Given the description of an element on the screen output the (x, y) to click on. 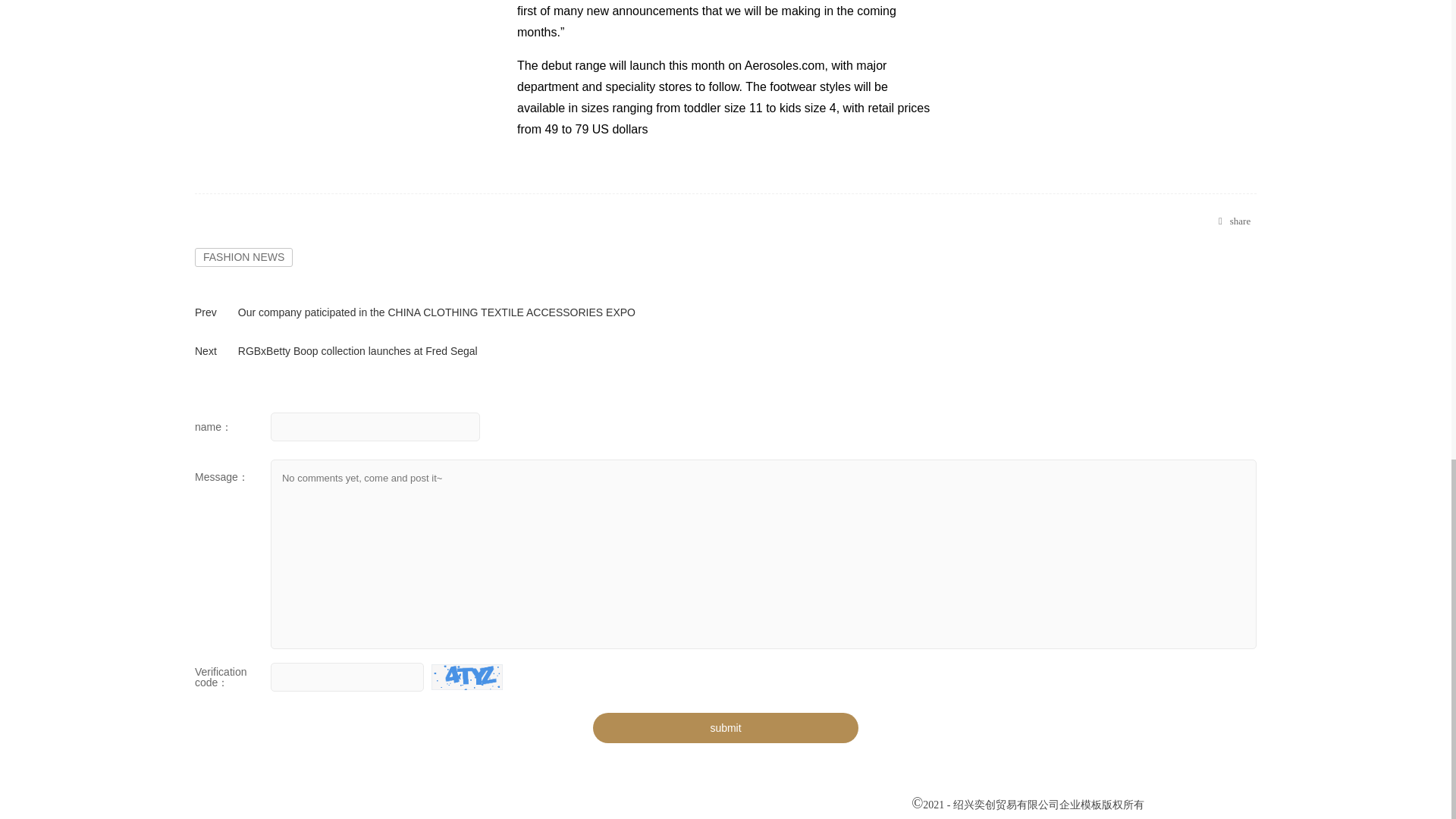
FASHION NEWS (243, 257)
Change the Captcha. (466, 677)
RGBxBetty Boop collection launches at Fred Segal (357, 350)
